Given the description of an element on the screen output the (x, y) to click on. 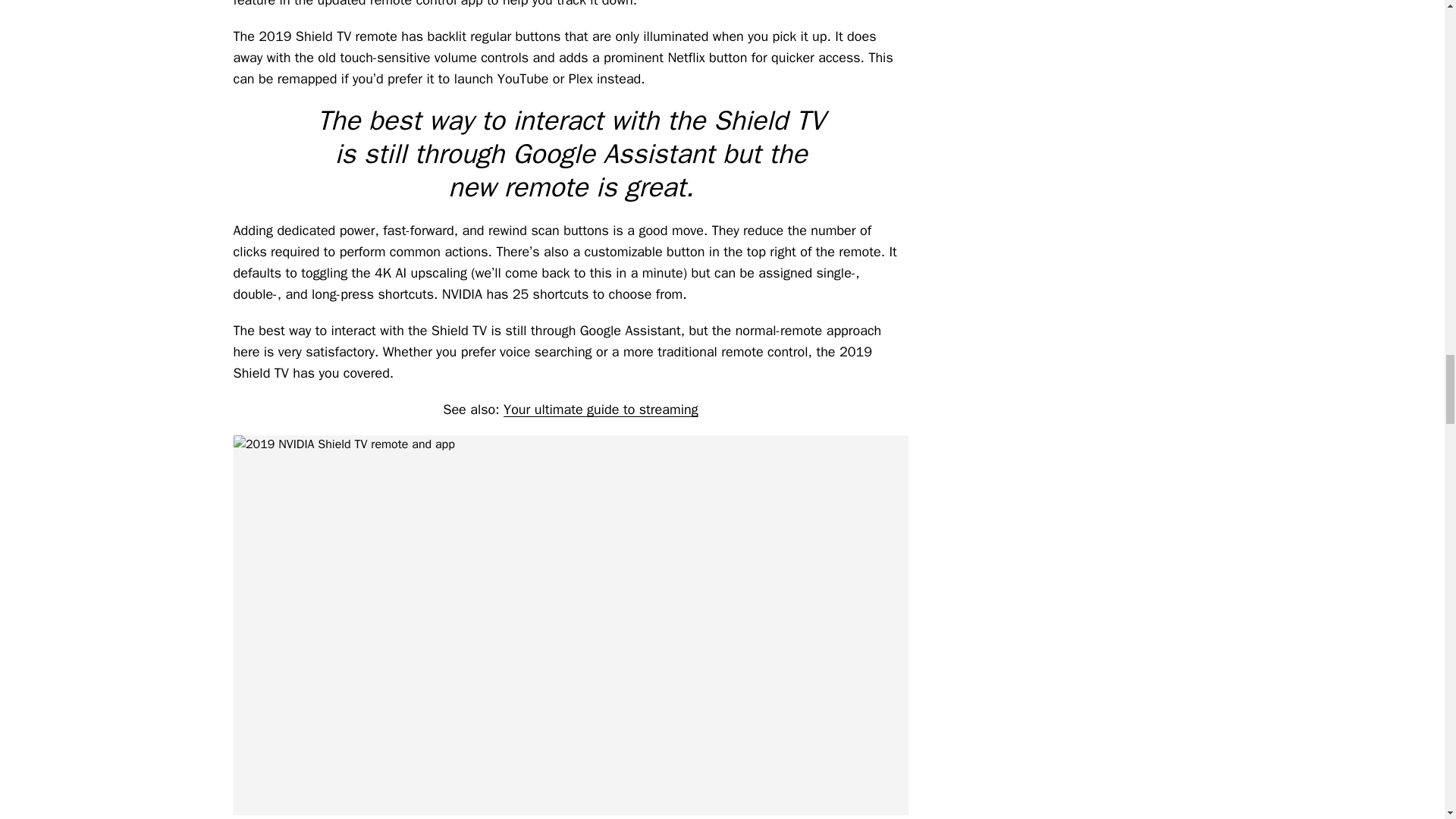
Your ultimate guide to streaming (600, 409)
